Given the description of an element on the screen output the (x, y) to click on. 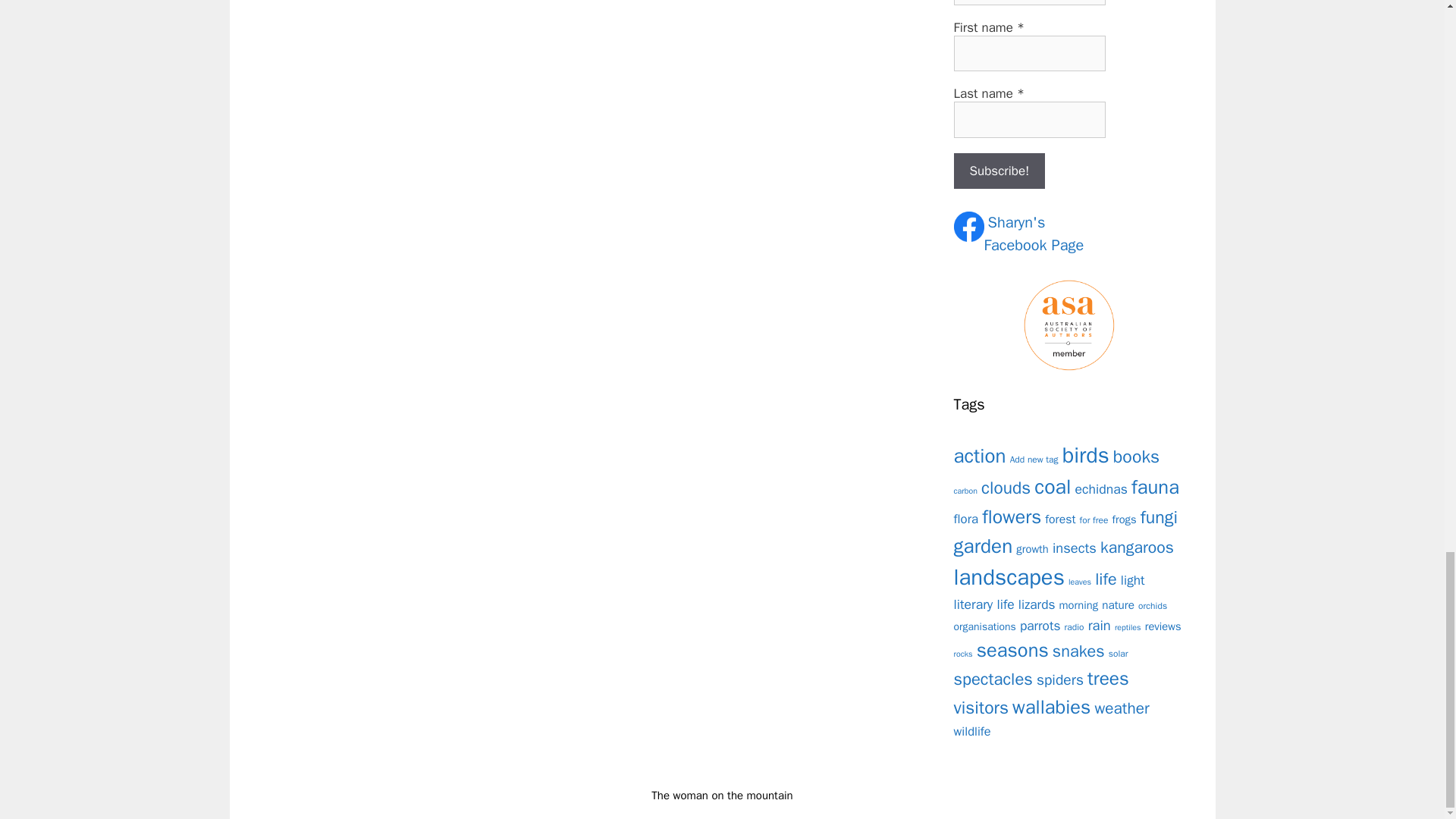
action (979, 455)
birds (1085, 455)
frogs (1124, 519)
coal (1051, 486)
carbon (965, 491)
Add new tag (1034, 459)
First name (1029, 54)
forest (1060, 519)
Last name (1029, 119)
fauna (1155, 487)
books (1135, 456)
flora (1034, 234)
echidnas (965, 519)
for free (1100, 488)
